Given the description of an element on the screen output the (x, y) to click on. 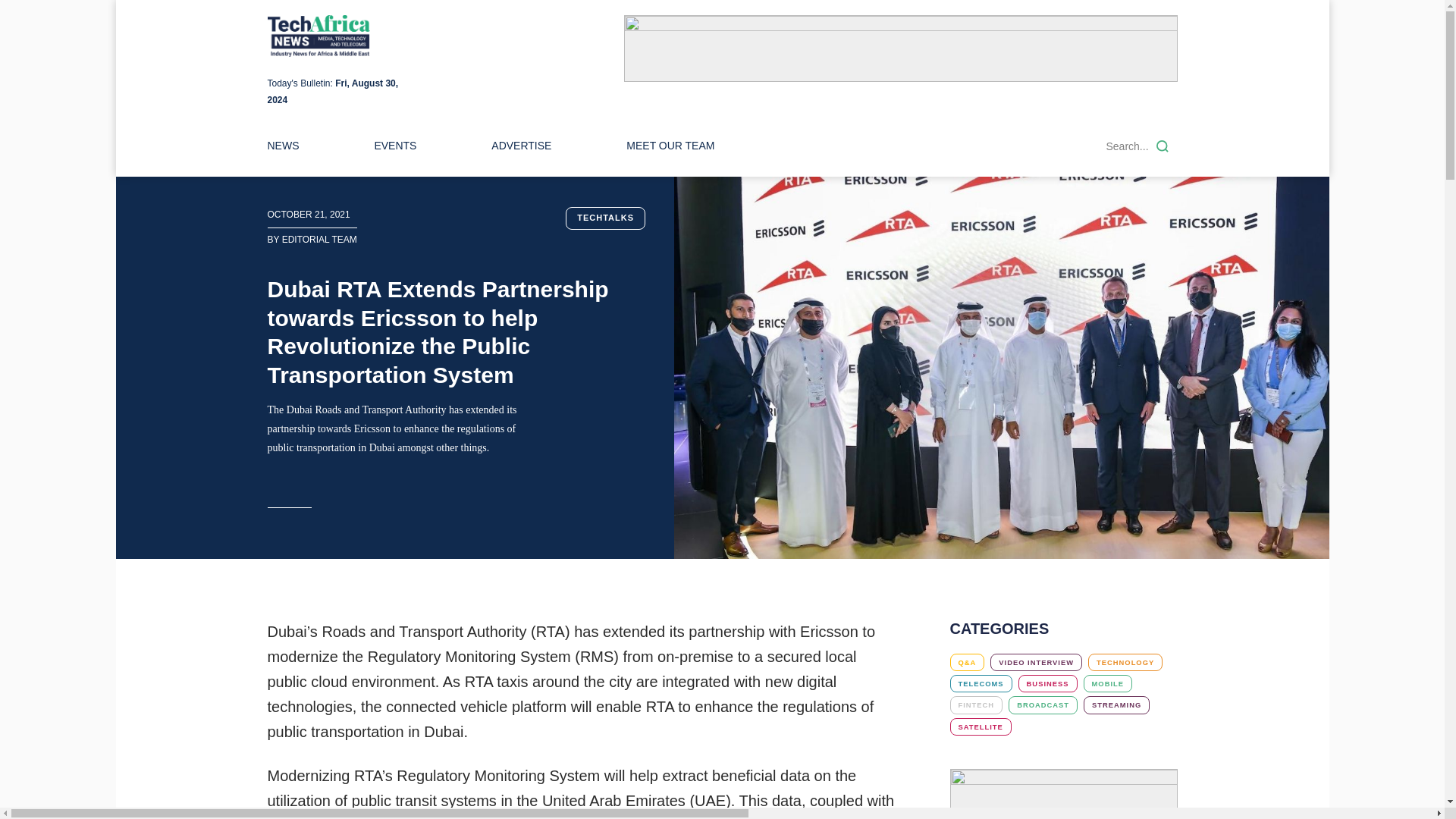
ADVERTISE (521, 146)
BROADCAST (1043, 704)
TELECOMS (980, 683)
Search (1162, 145)
MEET OUR TEAM (670, 146)
ADVERTISE (521, 146)
VIDEO INTERVIEW (1035, 661)
BUSINESS (1047, 683)
FINTECH (976, 704)
SATELLITE (979, 725)
